Given the description of an element on the screen output the (x, y) to click on. 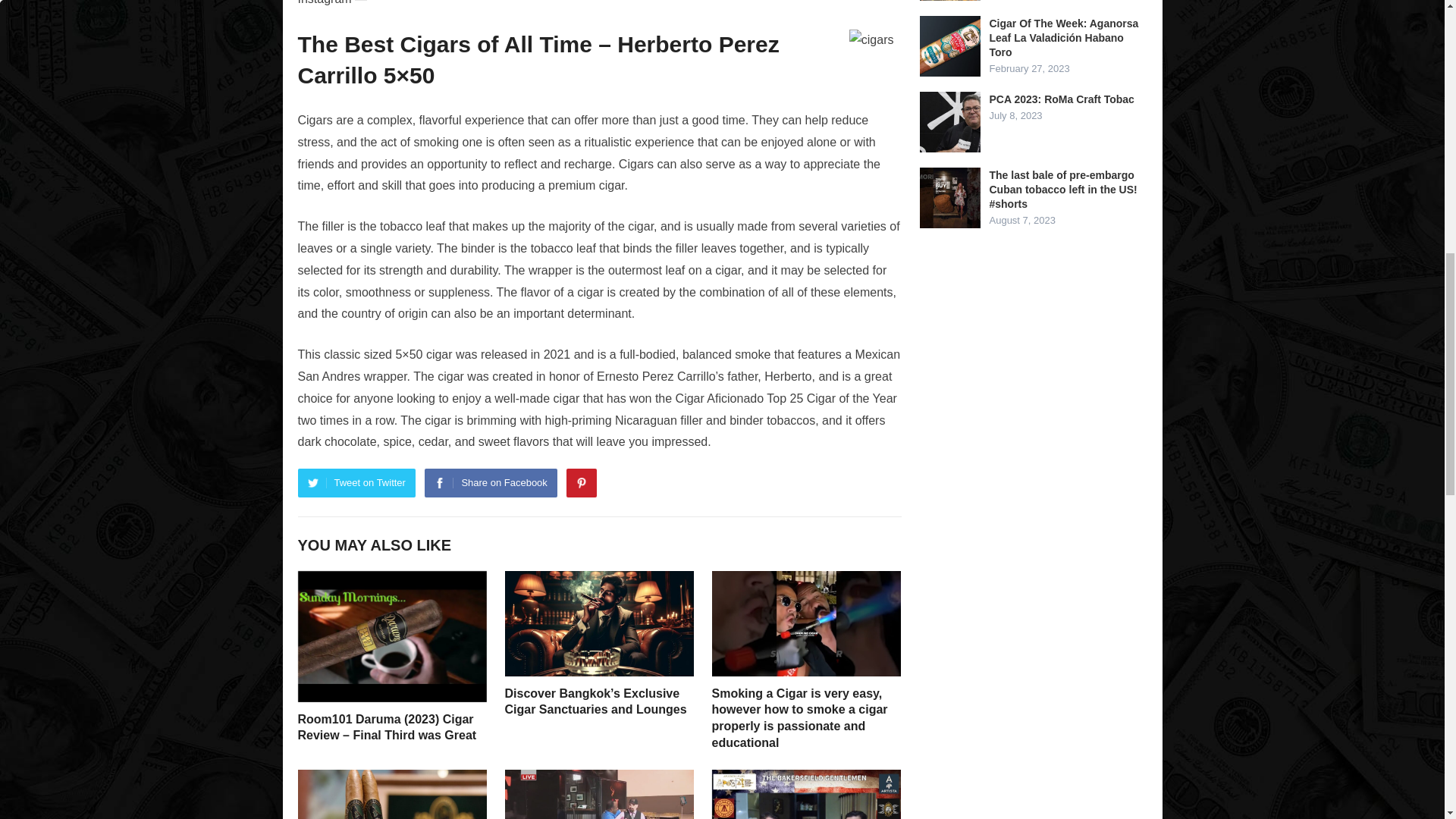
Tweet on Twitter (355, 482)
Share on Facebook (490, 482)
Pinterest (581, 482)
